Given the description of an element on the screen output the (x, y) to click on. 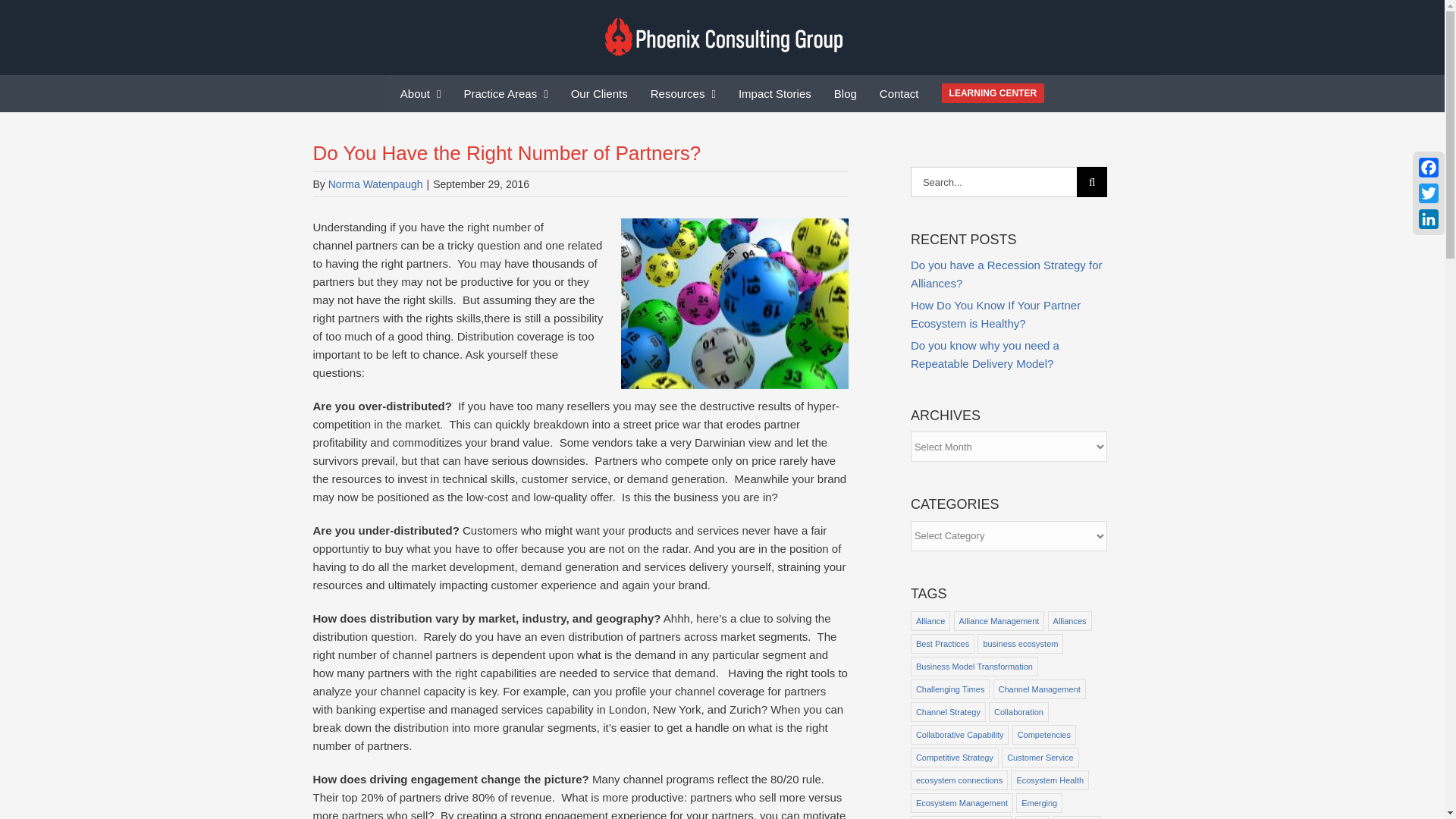
LEARNING CENTER (993, 93)
About (420, 93)
Resources (683, 93)
Contact (898, 93)
Our Clients (598, 93)
Practice Areas (506, 93)
Impact Stories (774, 93)
Posts by Norma Watenpaugh (376, 184)
